Given the description of an element on the screen output the (x, y) to click on. 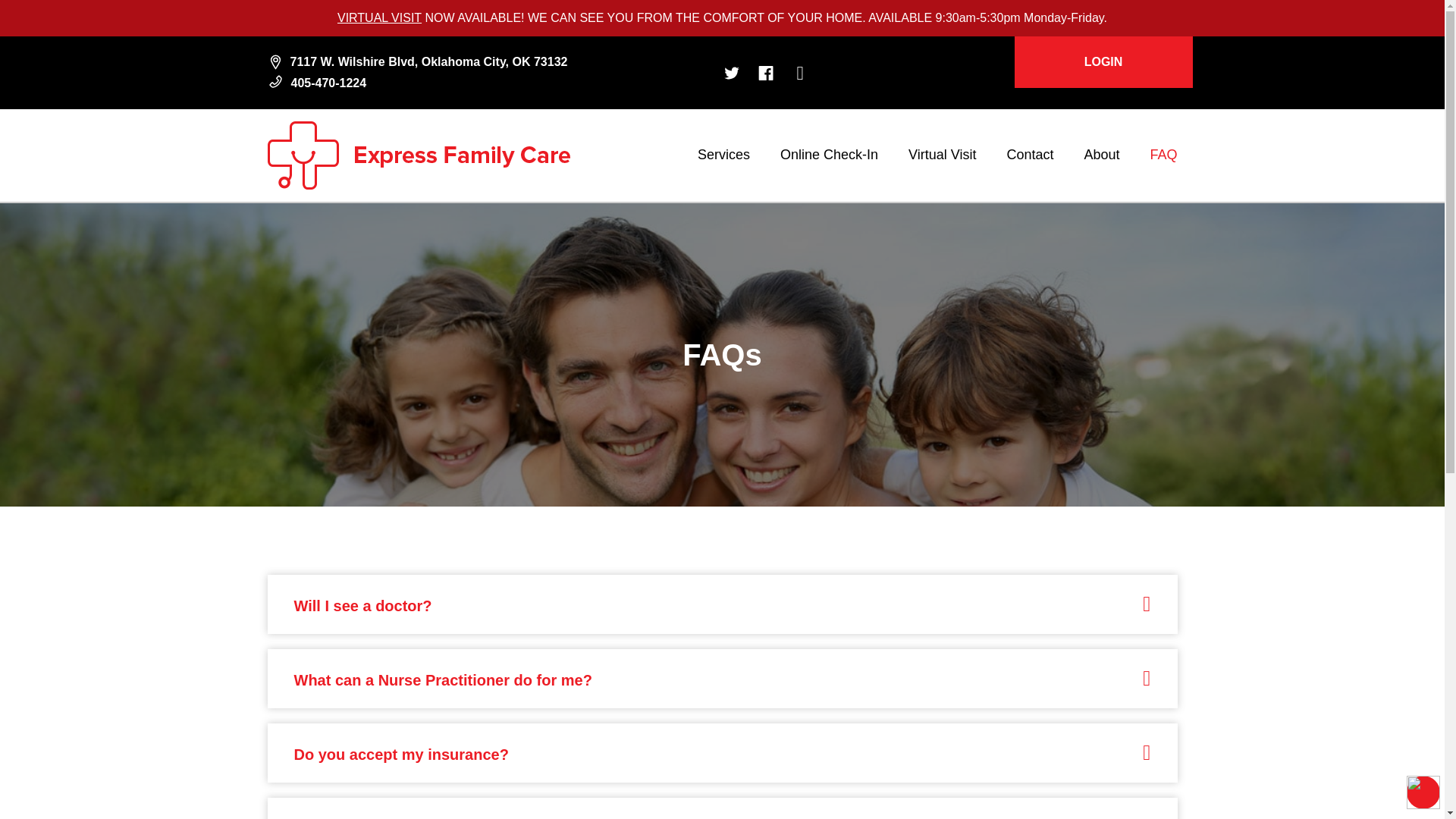
About (1101, 155)
Do you accept my insurance? (401, 754)
LOGIN (1103, 61)
Services (723, 155)
Virtual Visit (941, 155)
VIRTUAL VISIT (379, 17)
Accessibility Menu (1422, 792)
7117 W. Wilshire Blvd, Oklahoma City, OK 73132 (416, 61)
FAQ (1163, 155)
Contact (1029, 155)
Online Check-In (828, 155)
What can a Nurse Practitioner do for me? (443, 679)
Will I see a doctor? (363, 605)
405-470-1224 (316, 83)
